Given the description of an element on the screen output the (x, y) to click on. 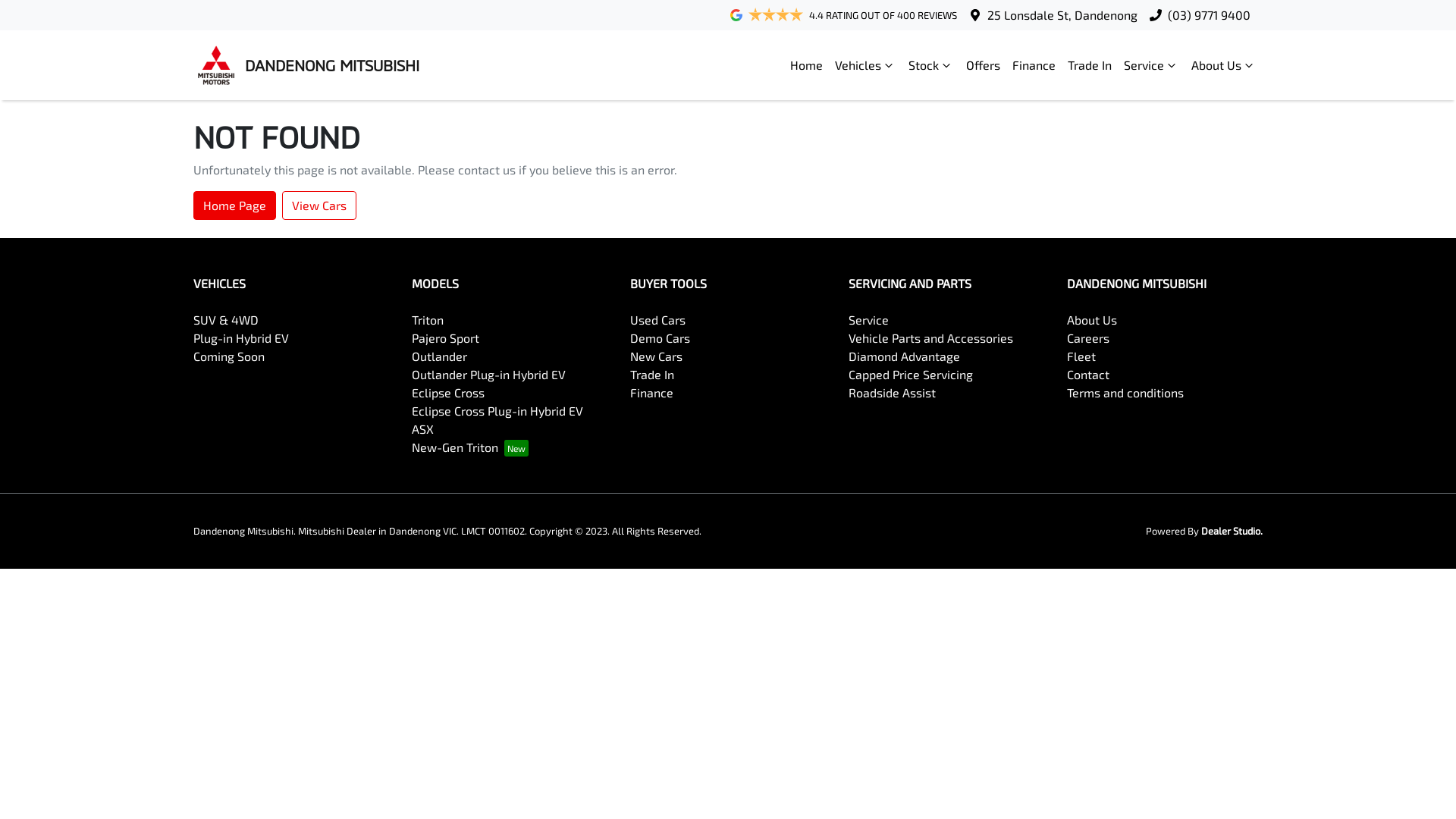
Used Cars Element type: text (657, 319)
Service Element type: text (868, 319)
About Us Element type: text (1091, 319)
Capped Price Servicing Element type: text (910, 374)
Eclipse Cross Element type: text (447, 392)
Demo Cars Element type: text (660, 337)
Finance Element type: text (1033, 65)
Contact Element type: text (1087, 374)
Vehicles Element type: text (865, 65)
Diamond Advantage Element type: text (904, 355)
ASX Element type: text (422, 428)
Vehicle Parts and Accessories Element type: text (930, 337)
Terms and conditions Element type: text (1124, 392)
Trade In Element type: text (1089, 65)
Service Element type: text (1151, 65)
Plug-in Hybrid EV Element type: text (240, 337)
View Cars Element type: text (319, 205)
Home Element type: text (806, 65)
Home Page Element type: text (234, 205)
Outlander Plug-in Hybrid EV Element type: text (488, 374)
About Us Element type: text (1223, 65)
Trade In Element type: text (652, 374)
New-Gen Triton Element type: text (469, 446)
Careers Element type: text (1087, 337)
Eclipse Cross Plug-in Hybrid EV Element type: text (497, 410)
Coming Soon Element type: text (228, 355)
SUV & 4WD Element type: text (225, 319)
Pajero Sport Element type: text (445, 337)
25 Lonsdale St, Dandenong Element type: text (1062, 14)
Triton Element type: text (427, 319)
Finance Element type: text (651, 392)
Stock Element type: text (931, 65)
New Cars Element type: text (656, 355)
Outlander Element type: text (439, 355)
DANDENONG MITSUBISHI Element type: text (306, 65)
Dealer Studio. Element type: text (1231, 530)
Offers Element type: text (983, 65)
(03) 9771 9400 Element type: text (1208, 14)
Fleet Element type: text (1080, 355)
Roadside Assist Element type: text (891, 392)
